Given the description of an element on the screen output the (x, y) to click on. 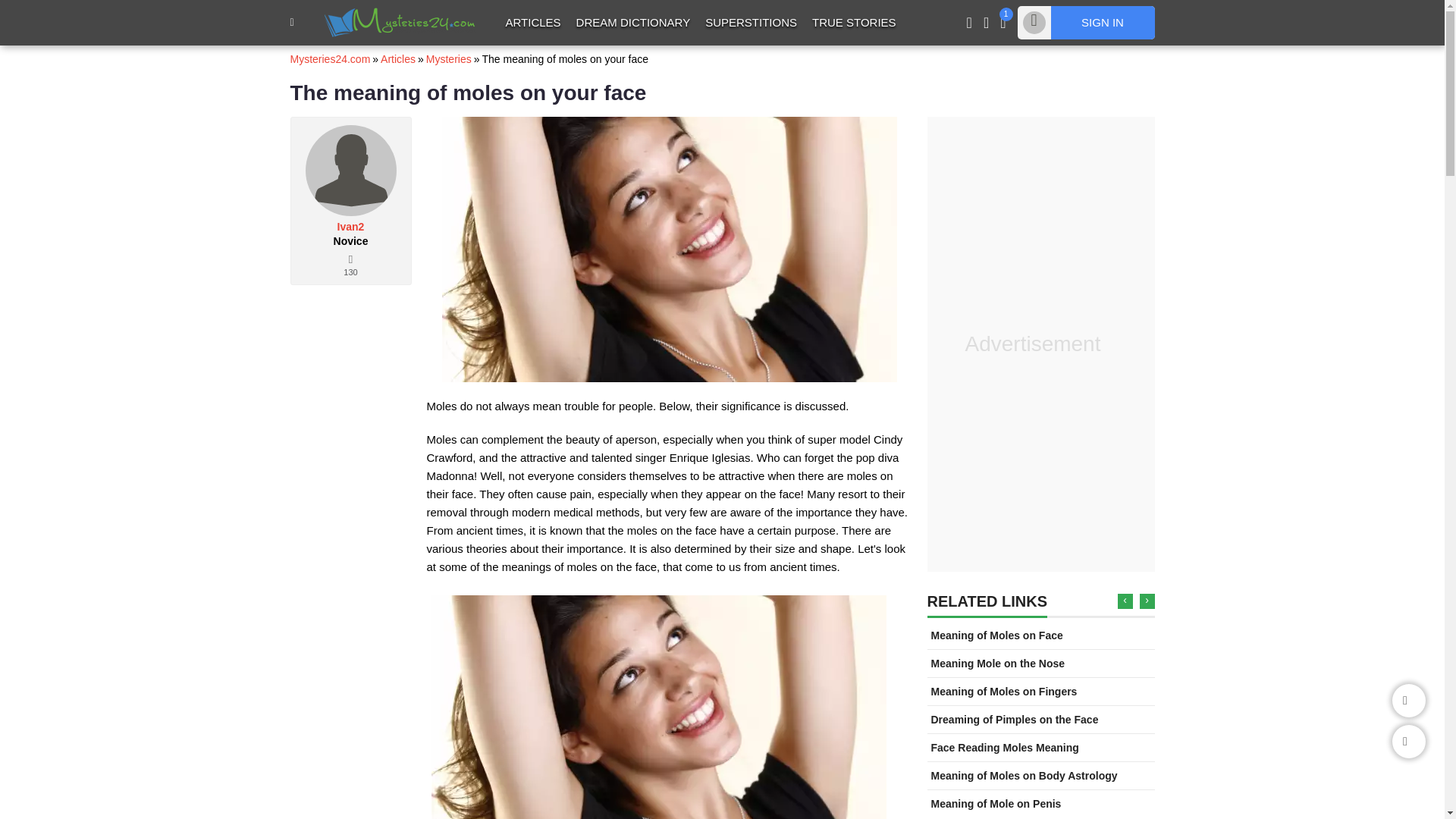
Meaning of Moles on Face (996, 635)
DREAM DICTIONARY (633, 22)
TRUE STORIES (854, 22)
ARTICLES (532, 22)
Meaning of Mole on Penis (996, 803)
mysteries24.com (400, 21)
Mysteries24.com (329, 59)
Face Reading Moles Meaning (1004, 747)
Ivan2 (350, 226)
Meaning of Moles on Body Astrology (1024, 775)
Mysteries (448, 59)
Meaning of Moles on Fingers (1004, 691)
Articles (397, 59)
SUPERSTITIONS (751, 22)
Meaning Mole on the Nose (998, 663)
